Given the description of an element on the screen output the (x, y) to click on. 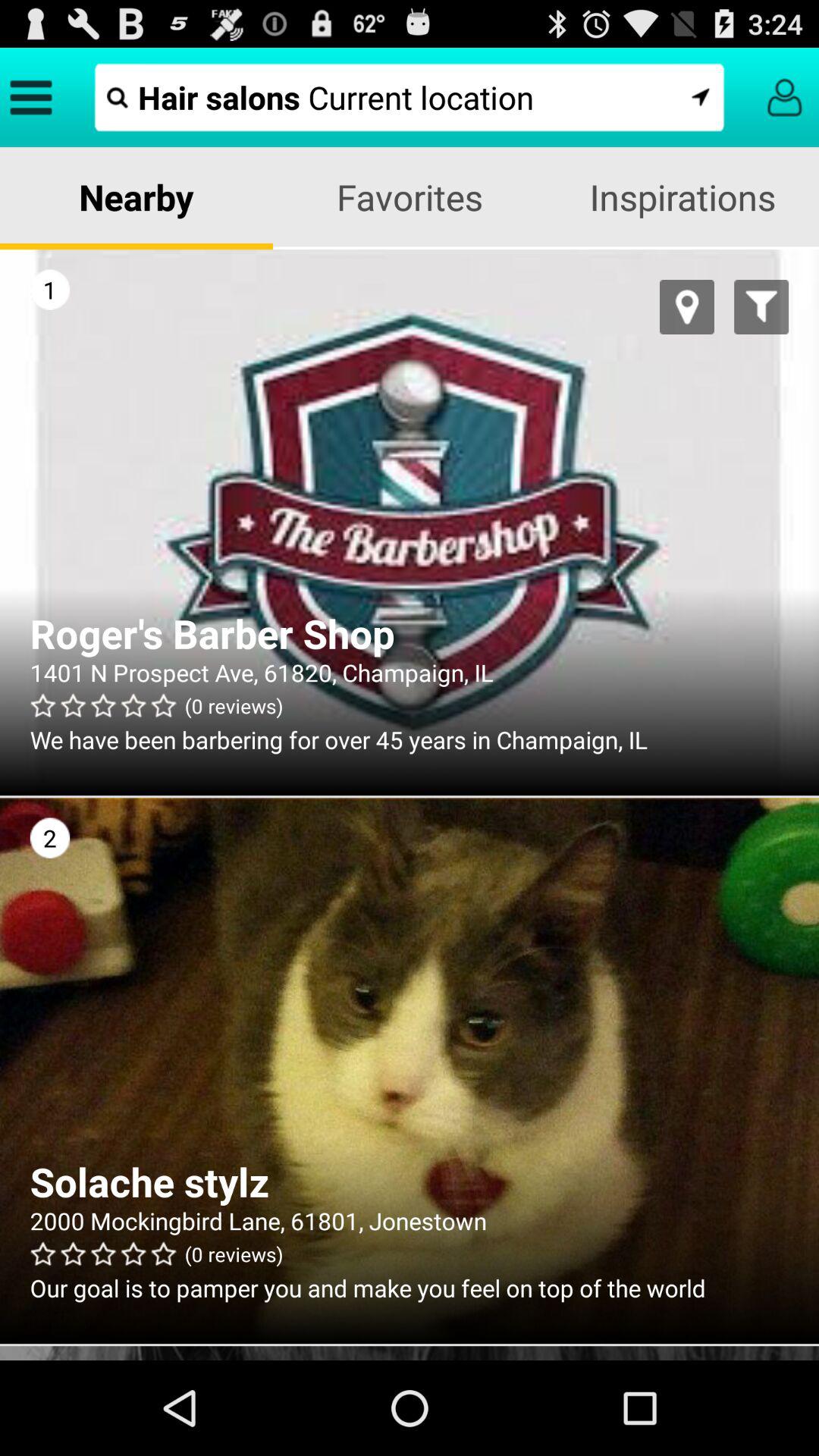
turn on icon to the right of favorites app (682, 196)
